Given the description of an element on the screen output the (x, y) to click on. 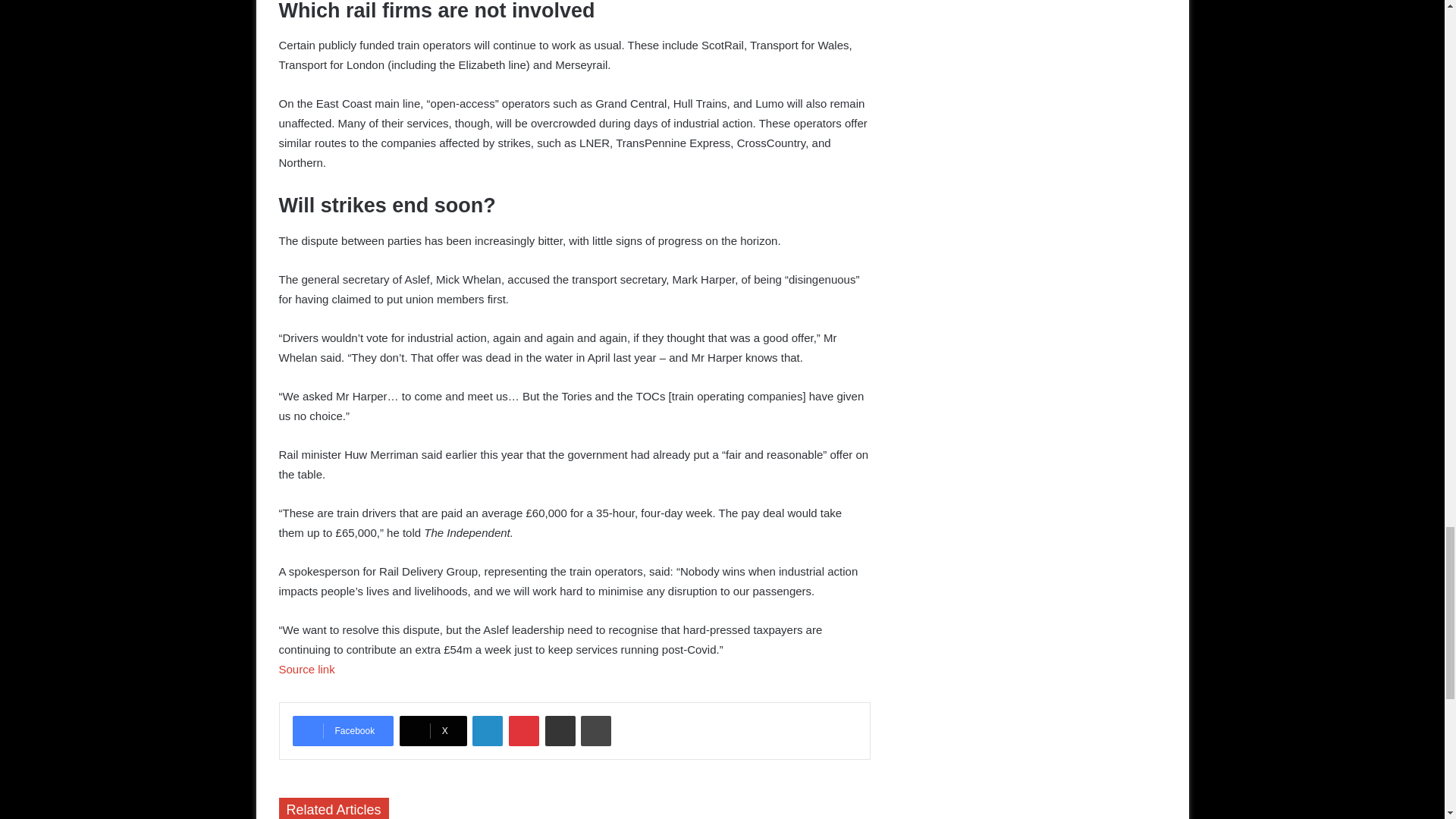
X (432, 730)
Pinterest (523, 730)
Share via Email (559, 730)
Print (595, 730)
Source link (306, 668)
X (432, 730)
LinkedIn (486, 730)
Facebook (343, 730)
Pinterest (523, 730)
LinkedIn (486, 730)
